Given the description of an element on the screen output the (x, y) to click on. 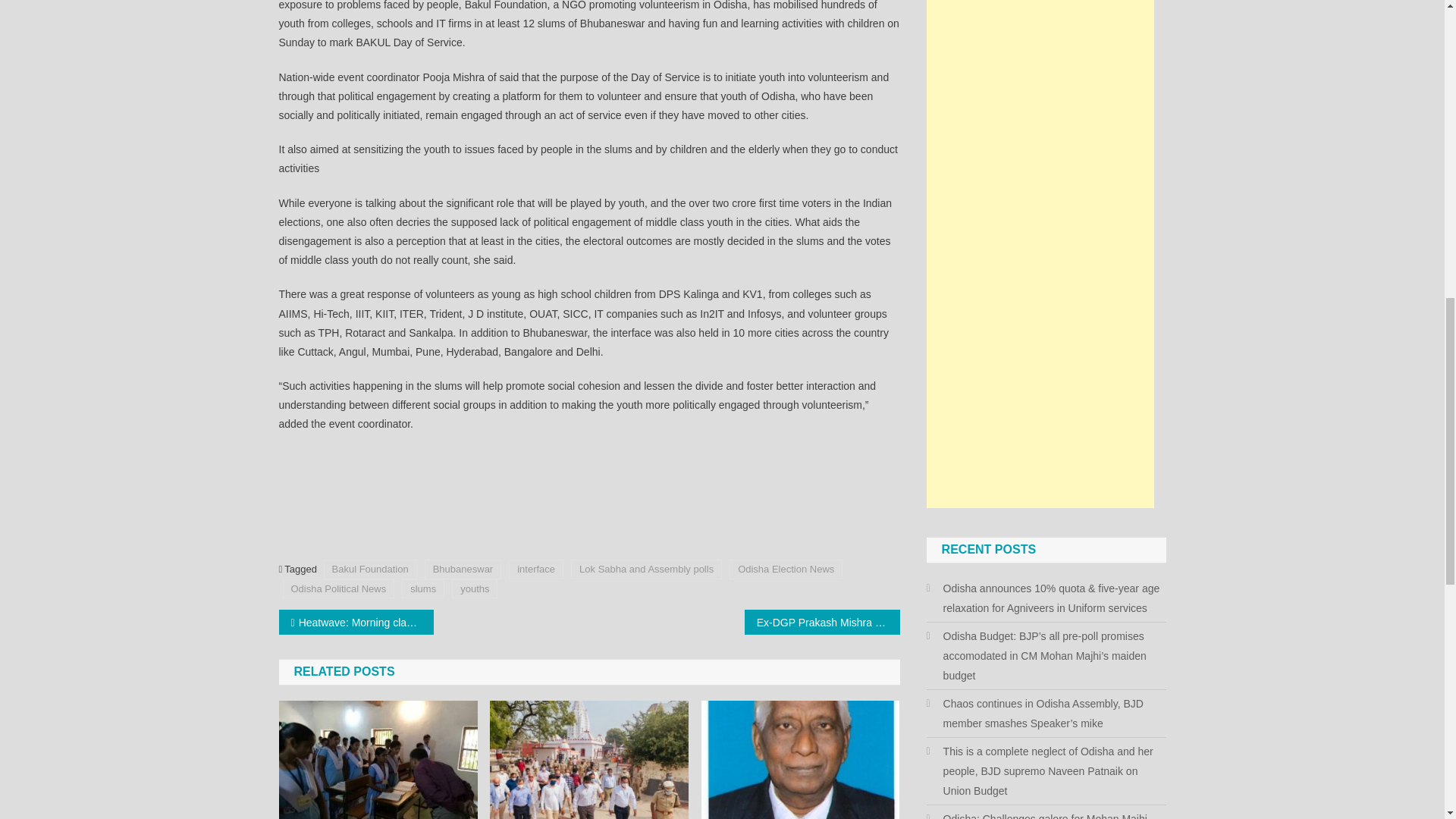
interface (535, 568)
Odisha Political News (338, 588)
slums (422, 588)
Heatwave: Morning classes in schools from April 2 in Odisha (356, 621)
Odisha Election News (786, 568)
Lok Sabha and Assembly polls (646, 568)
youths (474, 588)
Bakul Foundation (369, 568)
Bhubaneswar (463, 568)
